Given the description of an element on the screen output the (x, y) to click on. 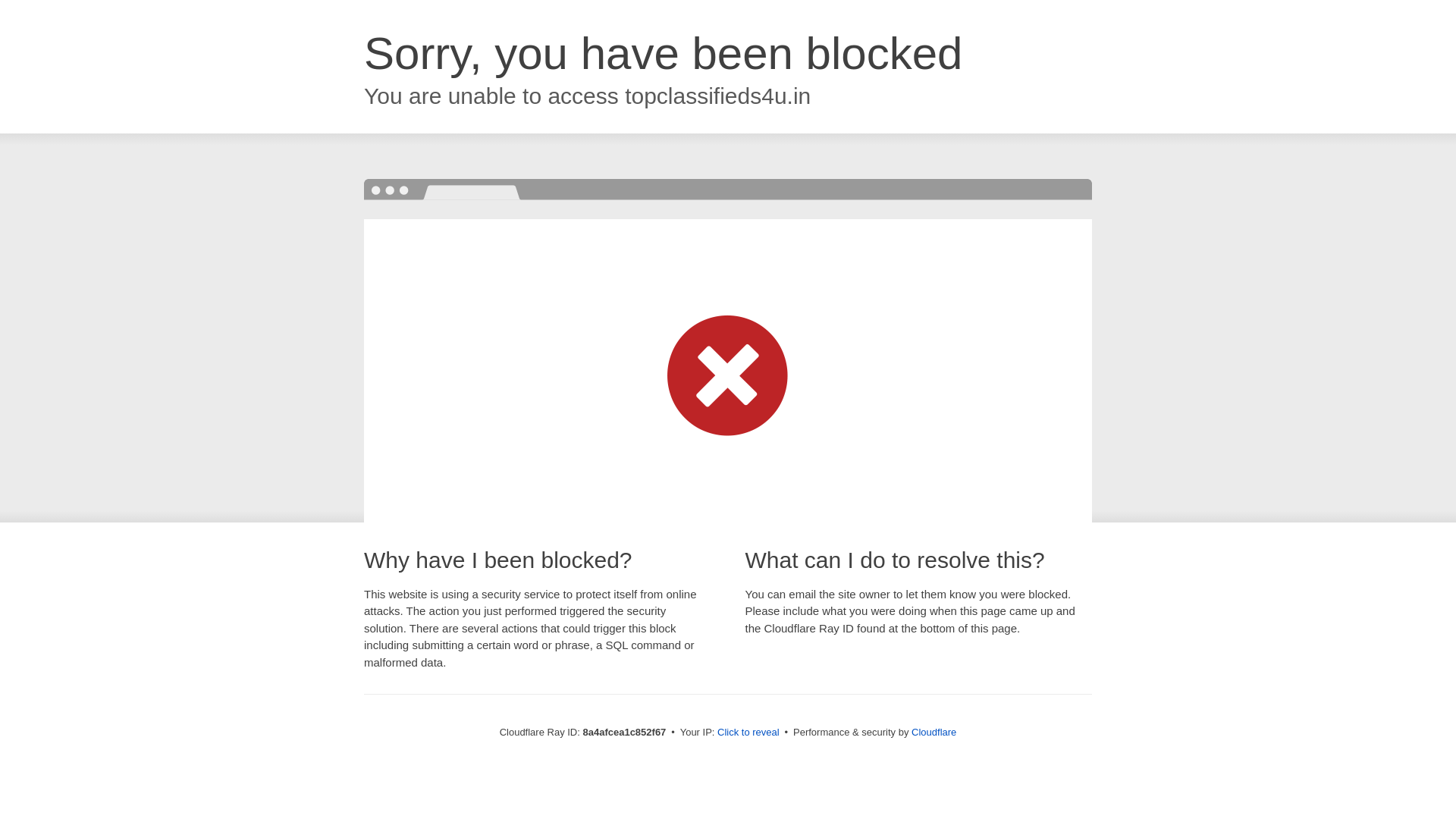
Click to reveal (747, 732)
Cloudflare (933, 731)
